Given the description of an element on the screen output the (x, y) to click on. 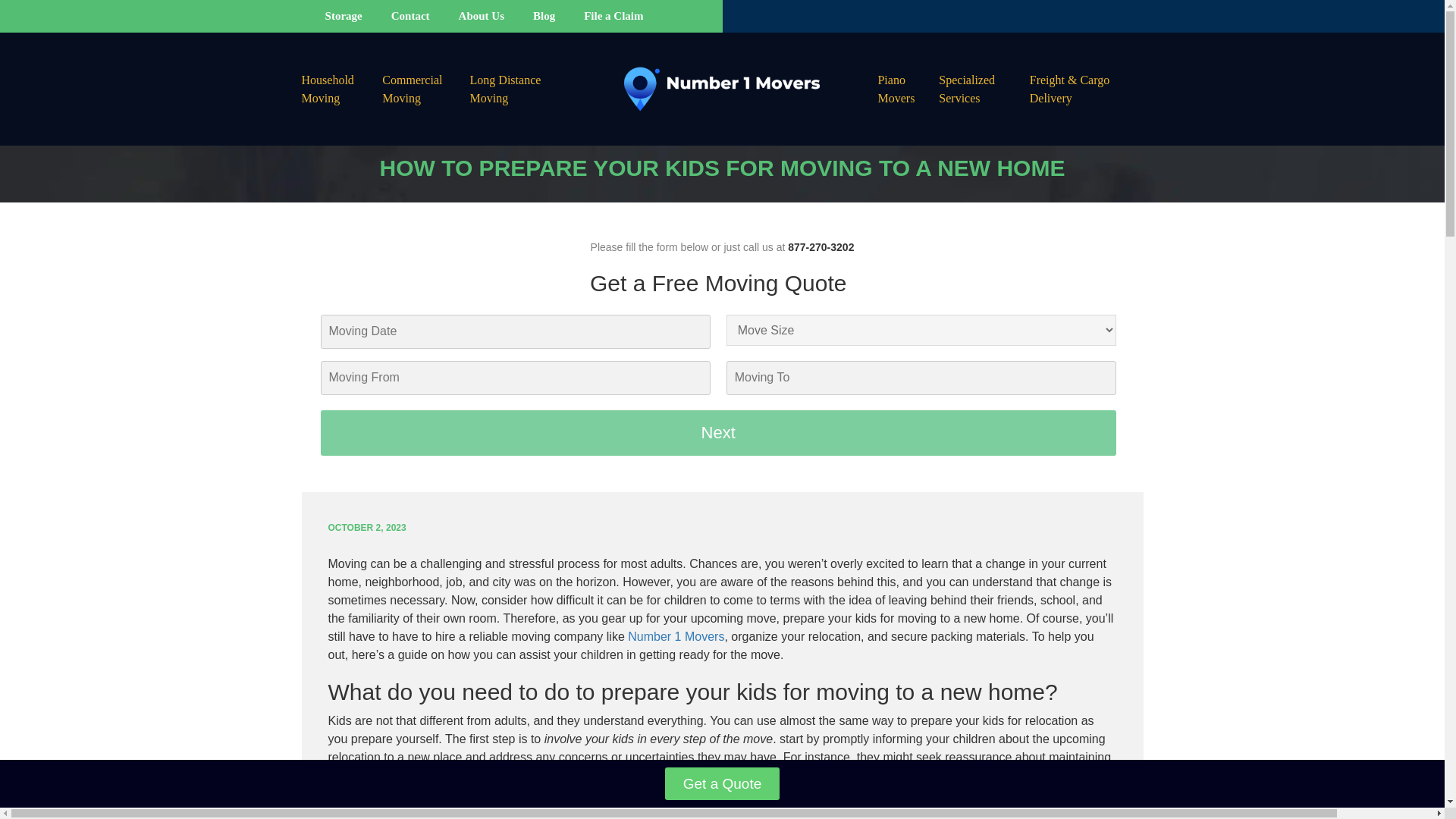
Contact (410, 15)
Blog (543, 15)
Household Moving (341, 89)
Long Distance Moving (518, 89)
Specialized Services (984, 89)
877-270-3202 (820, 246)
File a Claim (613, 15)
Next (717, 432)
Number 1 Movers (675, 635)
Piano Movers (908, 89)
Storage (343, 15)
Commercial Moving (424, 89)
About Us (480, 15)
